Given the description of an element on the screen output the (x, y) to click on. 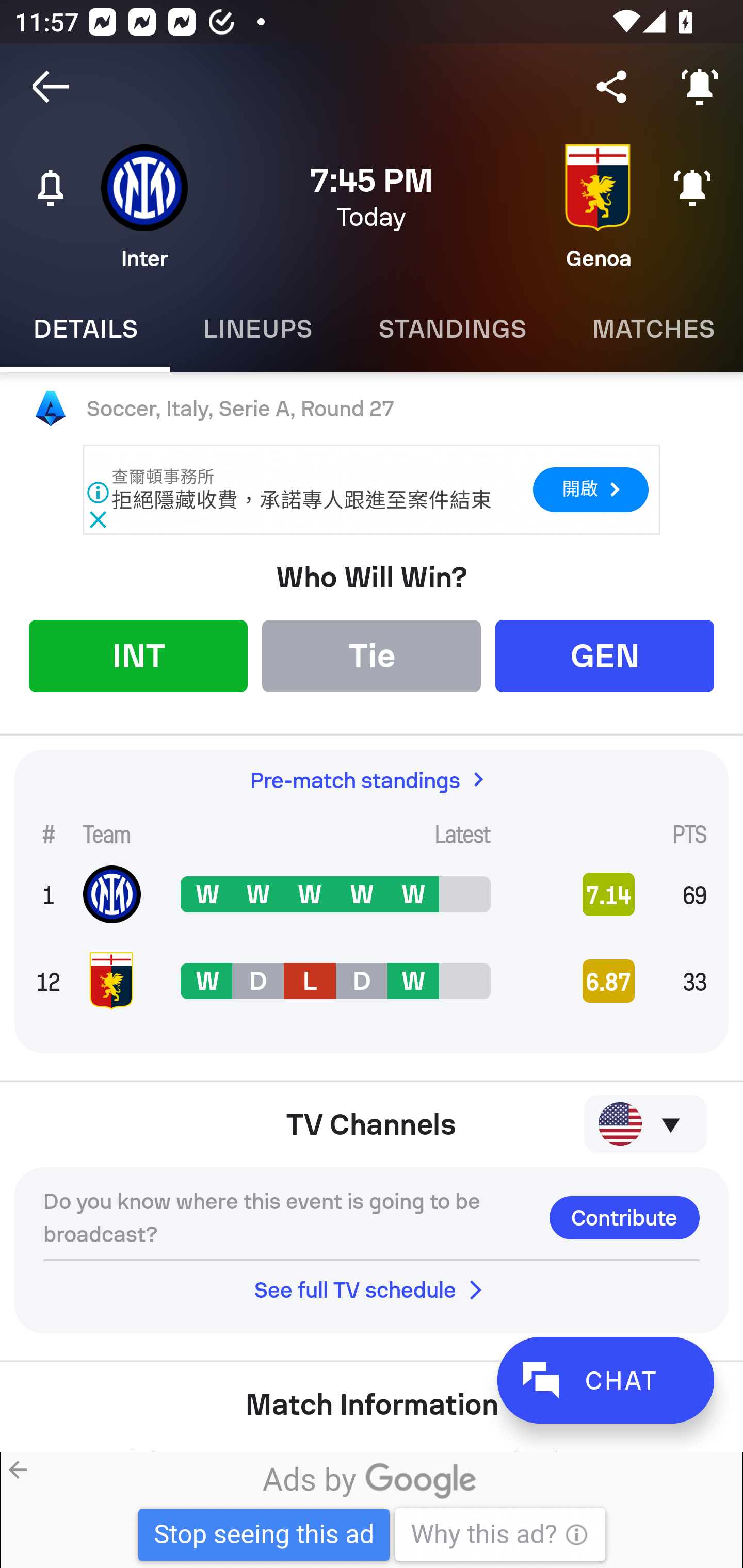
Navigate up (50, 86)
Lineups LINEUPS (257, 329)
Standings STANDINGS (451, 329)
Matches MATCHES (650, 329)
Soccer, Italy, Serie A, Round 27 (371, 409)
查爾頓事務所 (163, 476)
開啟 (590, 488)
拒絕隱藏收費，承諾專人跟進至案件結束 (301, 499)
INT (137, 655)
Tie (371, 655)
GEN (604, 655)
Contribute (624, 1217)
See full TV schedule (371, 1289)
CHAT (605, 1380)
